Given the description of an element on the screen output the (x, y) to click on. 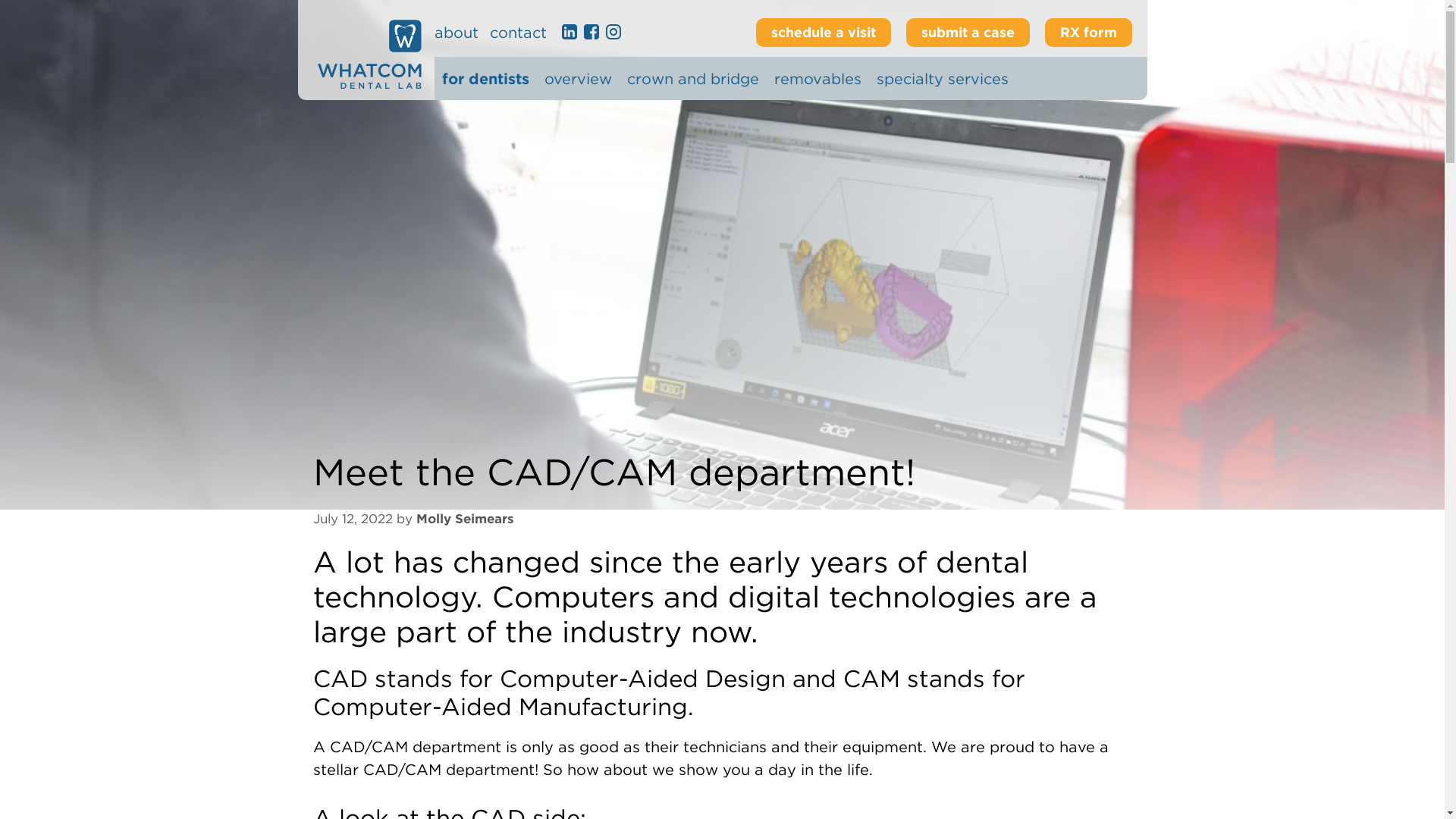
about (455, 32)
View all posts by Molly Seimears (463, 518)
schedule a visit (822, 32)
for dentists (484, 78)
RX form (1088, 32)
submit a case (967, 32)
contact (518, 32)
